Given the description of an element on the screen output the (x, y) to click on. 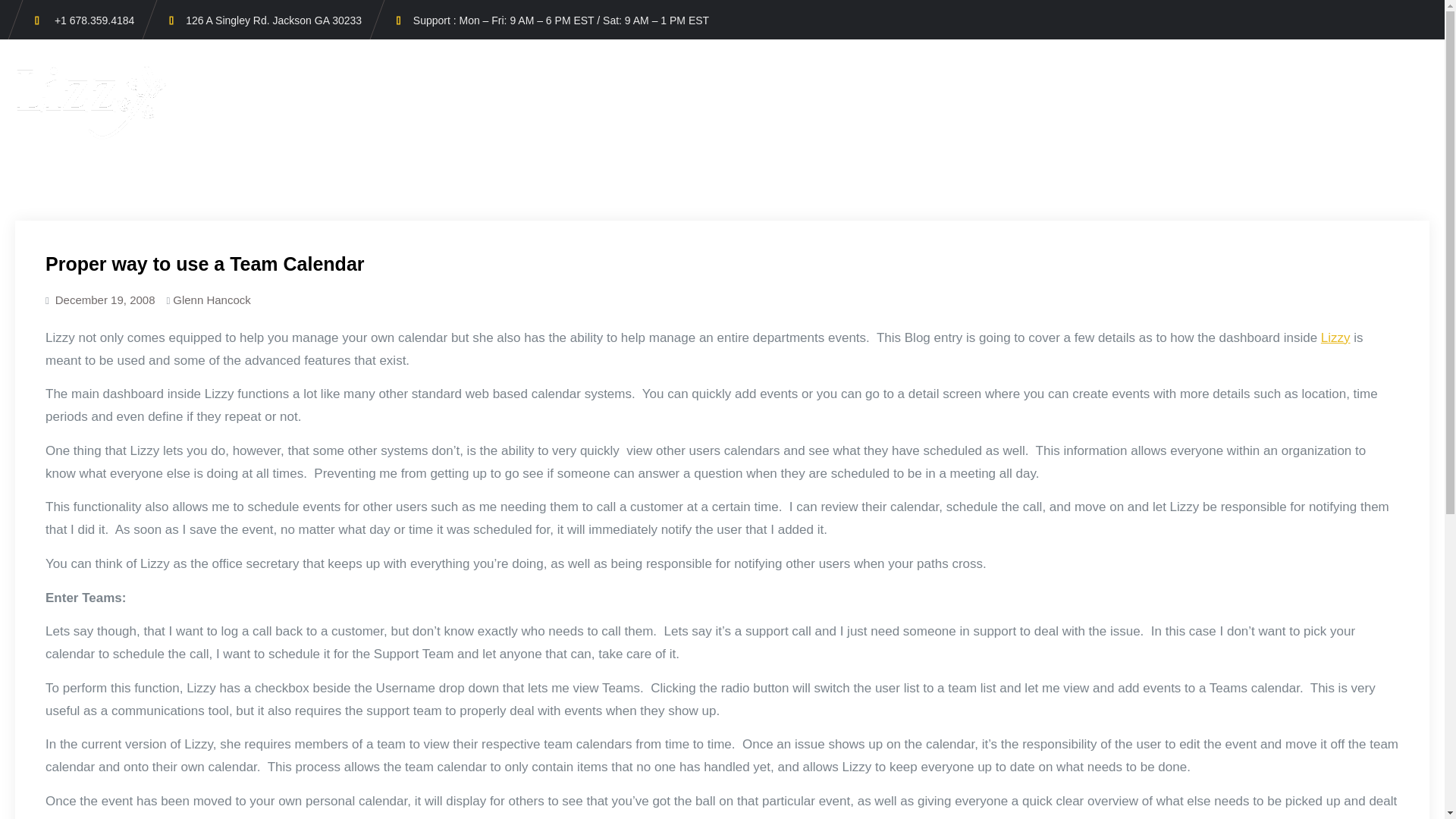
Search (1416, 71)
My Lizzy (210, 66)
Lizzy (1335, 337)
Glenn Hancock (211, 299)
Features (1076, 71)
Home (919, 71)
Pricing (1152, 71)
Contact Us (1232, 71)
Industries (993, 71)
Login (1364, 71)
December 19, 2008 (105, 299)
Blog (1305, 71)
